Given the description of an element on the screen output the (x, y) to click on. 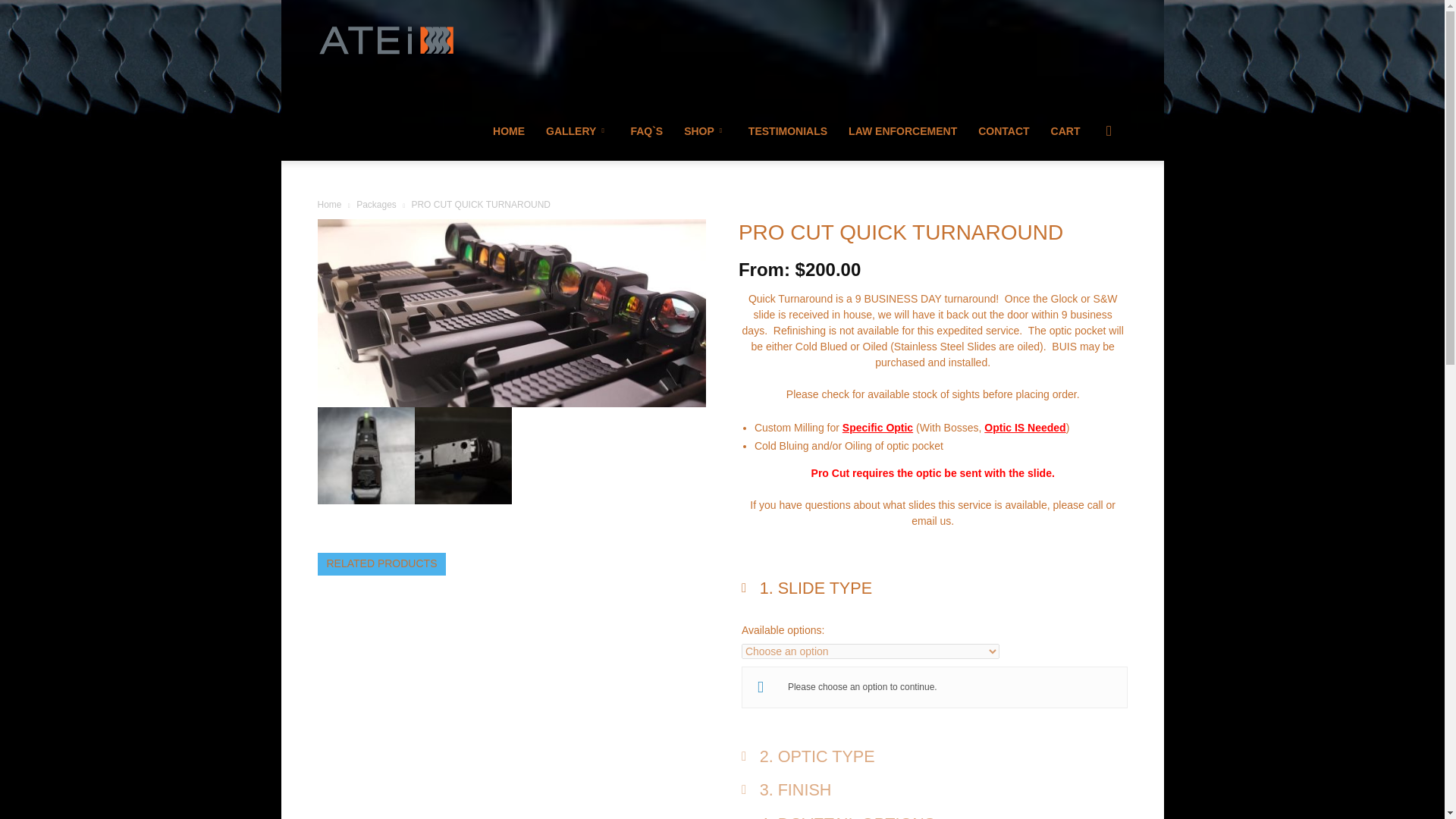
ATEi (384, 39)
4 DOVETAIL OPTIONS (933, 815)
Search (1085, 202)
GALLERY (577, 130)
SHOP (705, 130)
3 FINISH (933, 795)
2 OPTIC TYPE (933, 761)
HOME (508, 130)
Turning good guns into combat weapon systems (384, 40)
All The Optics Cropped (511, 313)
